Given the description of an element on the screen output the (x, y) to click on. 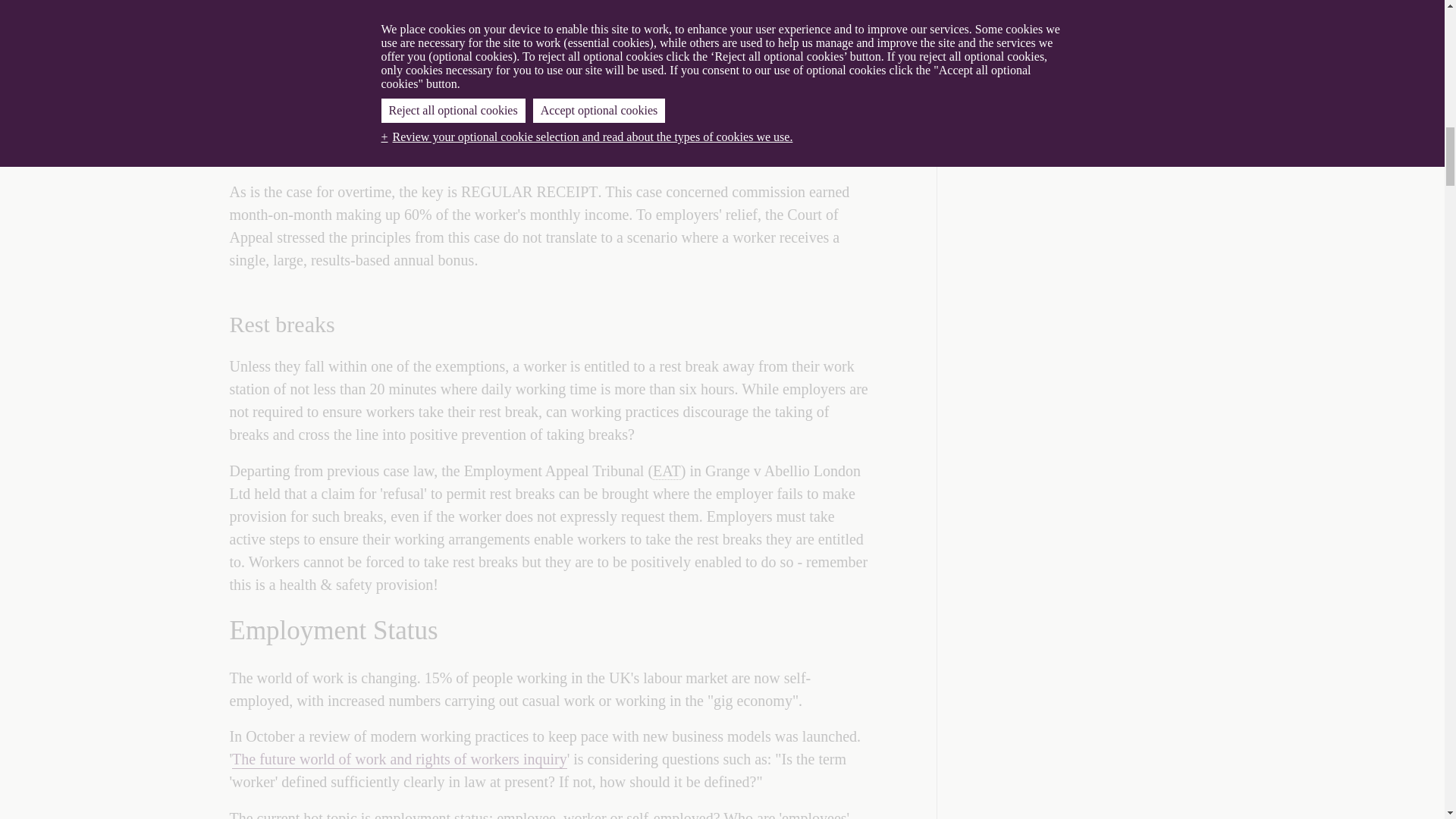
Employment Appeal Tribunal (666, 470)
Working Time Directive (651, 133)
